Given the description of an element on the screen output the (x, y) to click on. 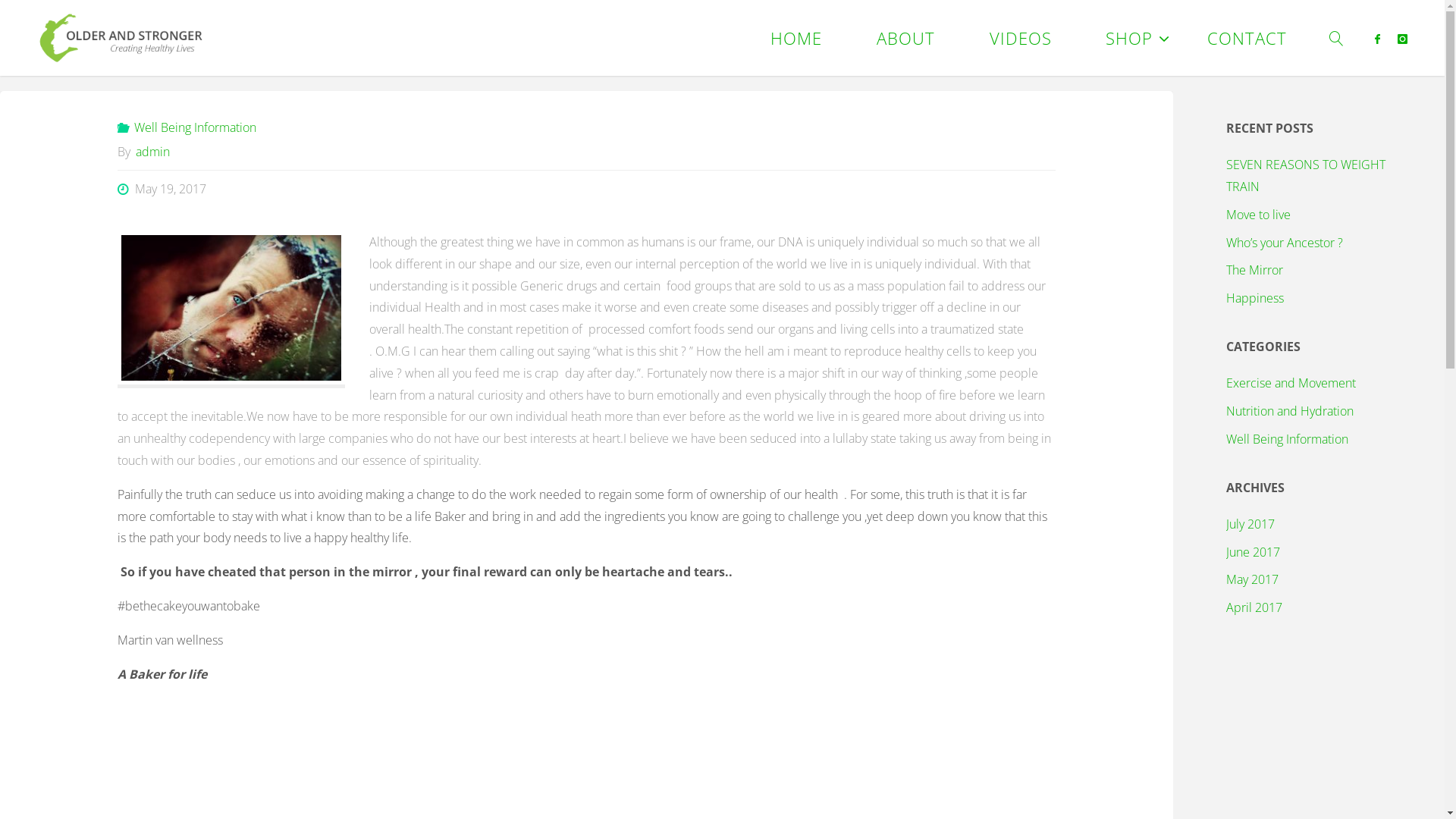
July 2017 Element type: text (1250, 523)
April 2017 Element type: text (1254, 607)
CONTACT Element type: text (1246, 37)
SEVEN REASONS TO WEIGHT TRAIN Element type: text (1305, 175)
Categories Element type: hover (124, 127)
ABOUT Element type: text (905, 37)
HOME Element type: text (796, 37)
Facebook Element type: hover (1377, 38)
June 2017 Element type: text (1253, 551)
Creating Healthy Lives Element type: hover (236, 160)
admin Element type: text (151, 151)
SEARCH Element type: text (1337, 37)
Move to live Element type: text (1258, 214)
Nutrition and Hydration Element type: text (1289, 410)
Well Being Information Element type: text (193, 127)
Well Being Information Element type: text (1287, 438)
SHOP Element type: text (1128, 37)
Exercise and Movement Element type: text (1290, 382)
May 2017 Element type: text (1252, 579)
VIDEOS Element type: text (1020, 37)
Date Element type: hover (124, 188)
Happiness Element type: text (1254, 297)
Older and Stronger Element type: hover (119, 37)
Instagram Element type: hover (1402, 38)
The Mirror Element type: text (1254, 269)
